Given the description of an element on the screen output the (x, y) to click on. 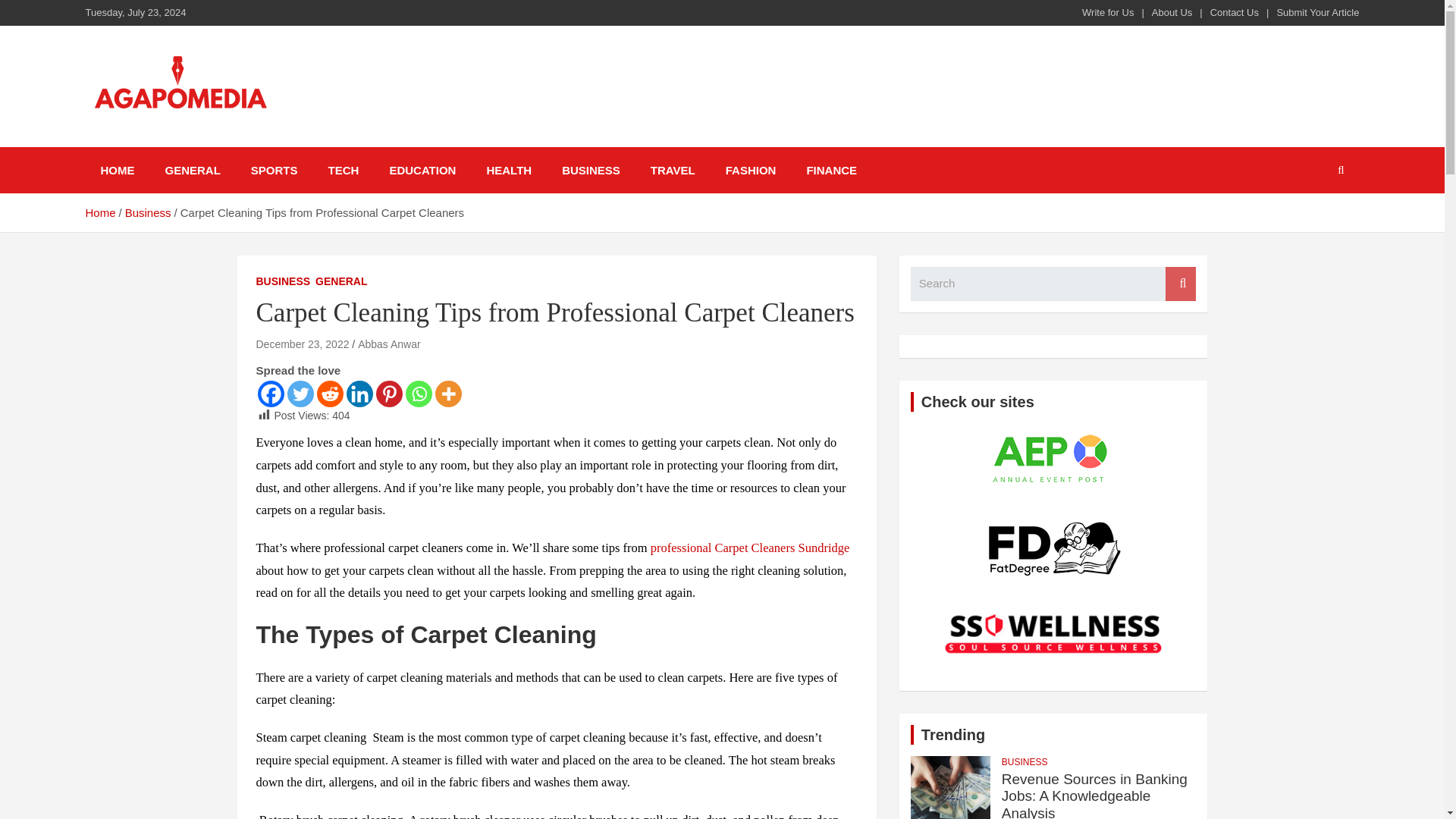
BUSINESS (283, 281)
GENERAL (340, 281)
Contact Us (1234, 12)
Business (148, 212)
EDUCATION (422, 170)
More (448, 393)
Reddit (330, 393)
Abbas Anwar (389, 344)
professional Carpet Cleaners Sundridge (750, 547)
Carpet Cleaning Tips from Professional Carpet Cleaners (302, 344)
BUSINESS (590, 170)
Write for Us (1107, 12)
TECH (343, 170)
Whatsapp (417, 393)
FASHION (751, 170)
